Given the description of an element on the screen output the (x, y) to click on. 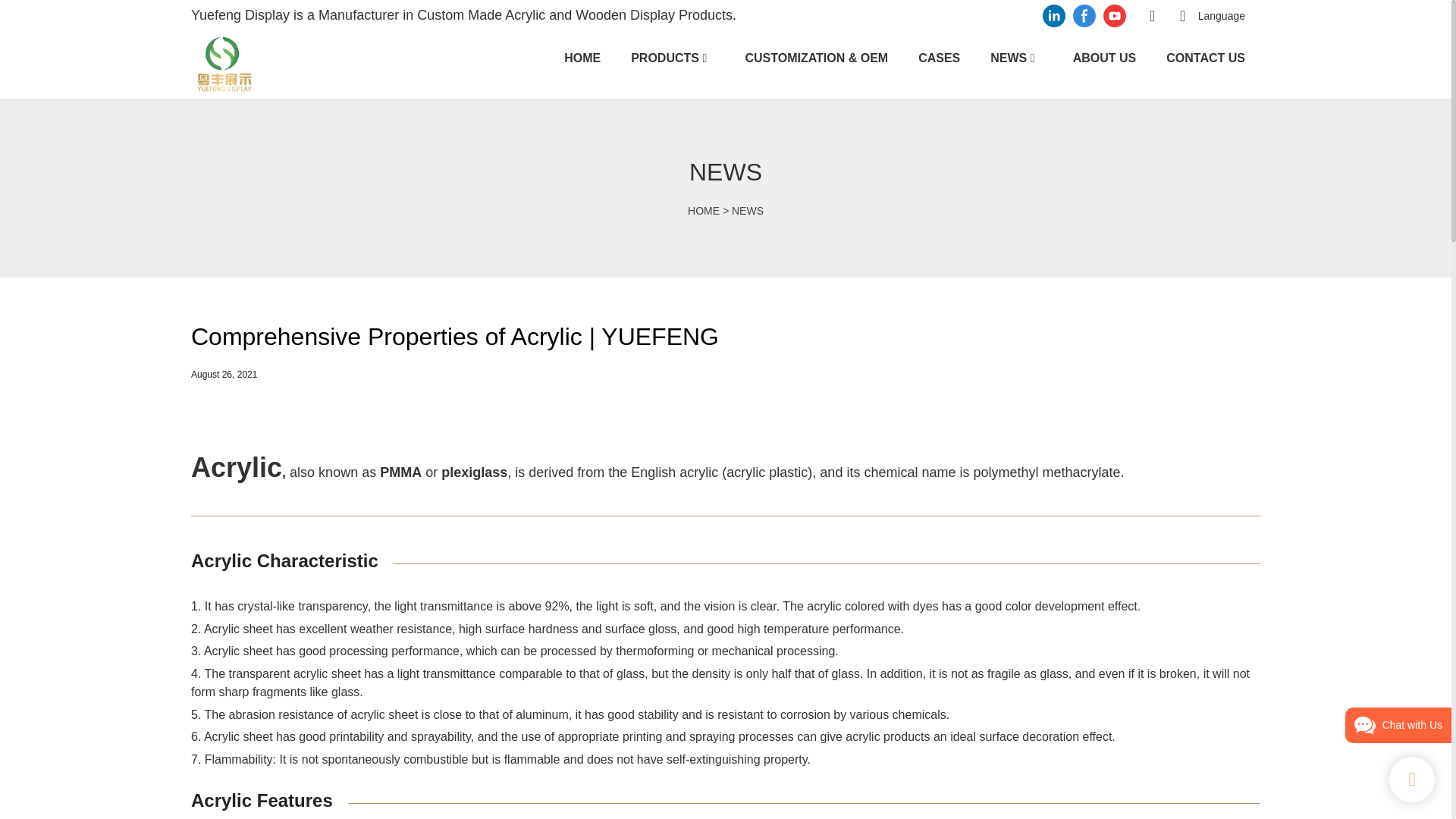
facebook (1083, 15)
youtube (1114, 15)
linkedin (1053, 15)
PRODUCTS (664, 57)
HOME (581, 57)
